Given the description of an element on the screen output the (x, y) to click on. 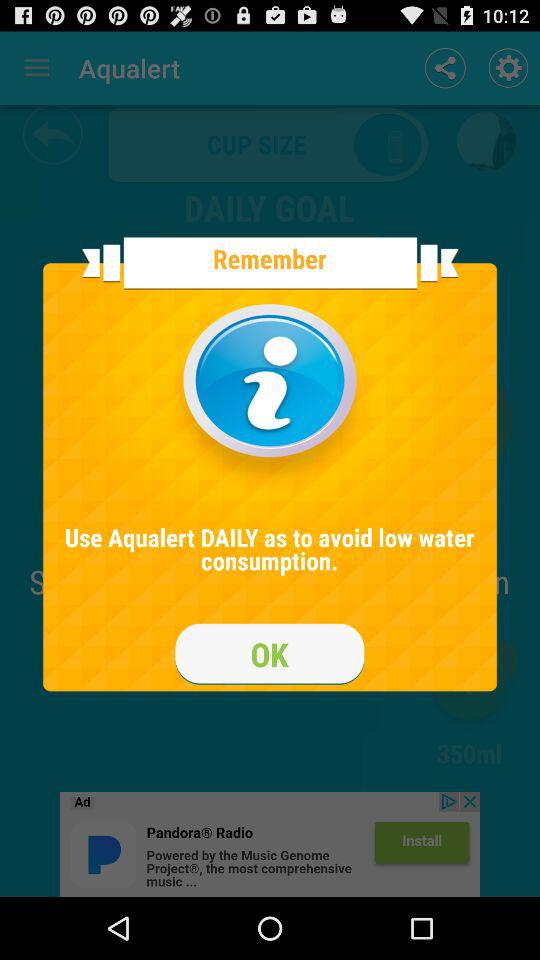
ok button (269, 654)
